Given the description of an element on the screen output the (x, y) to click on. 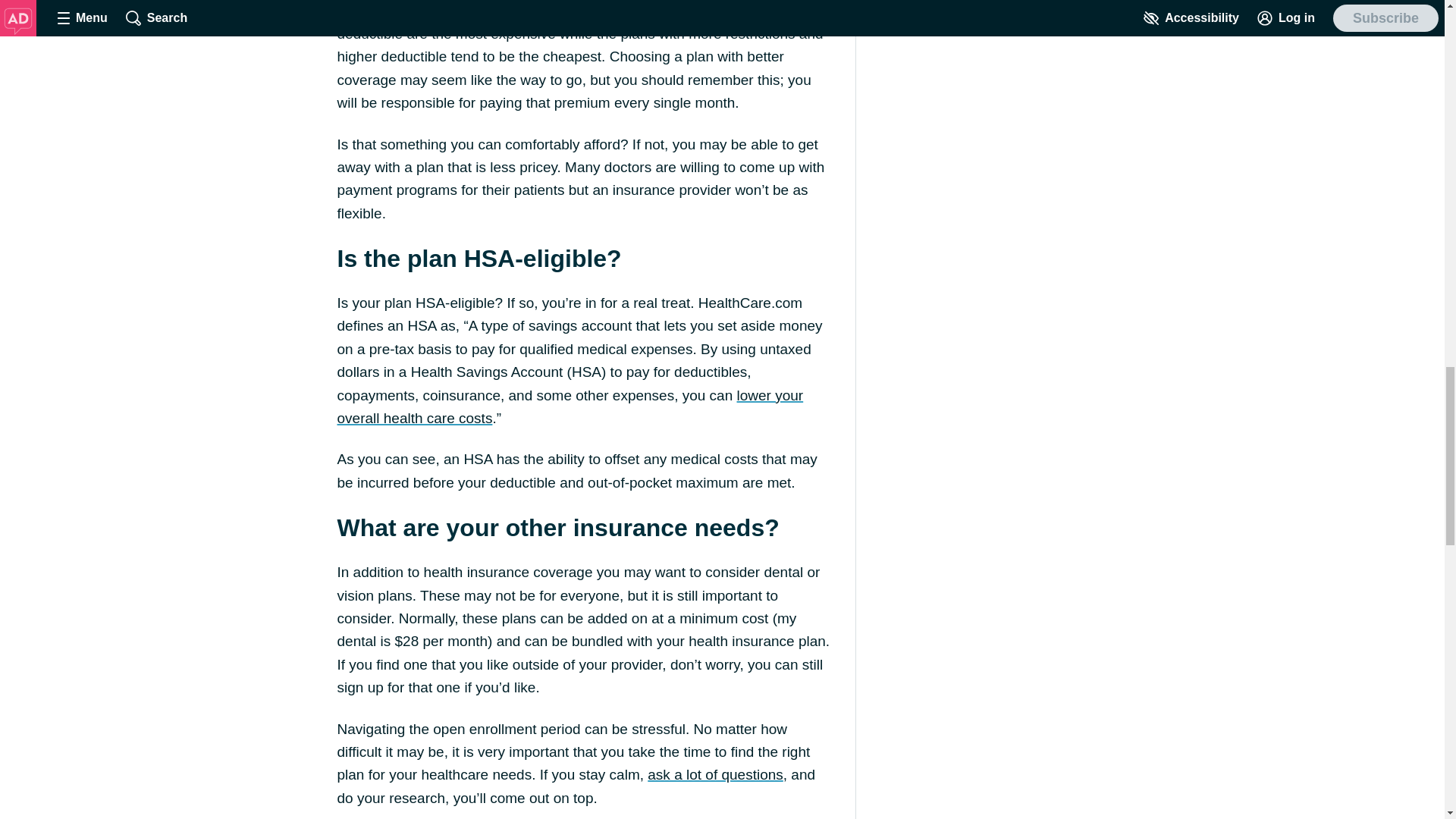
lower your overall health care costs (569, 406)
ask a lot of questions (715, 774)
